Given the description of an element on the screen output the (x, y) to click on. 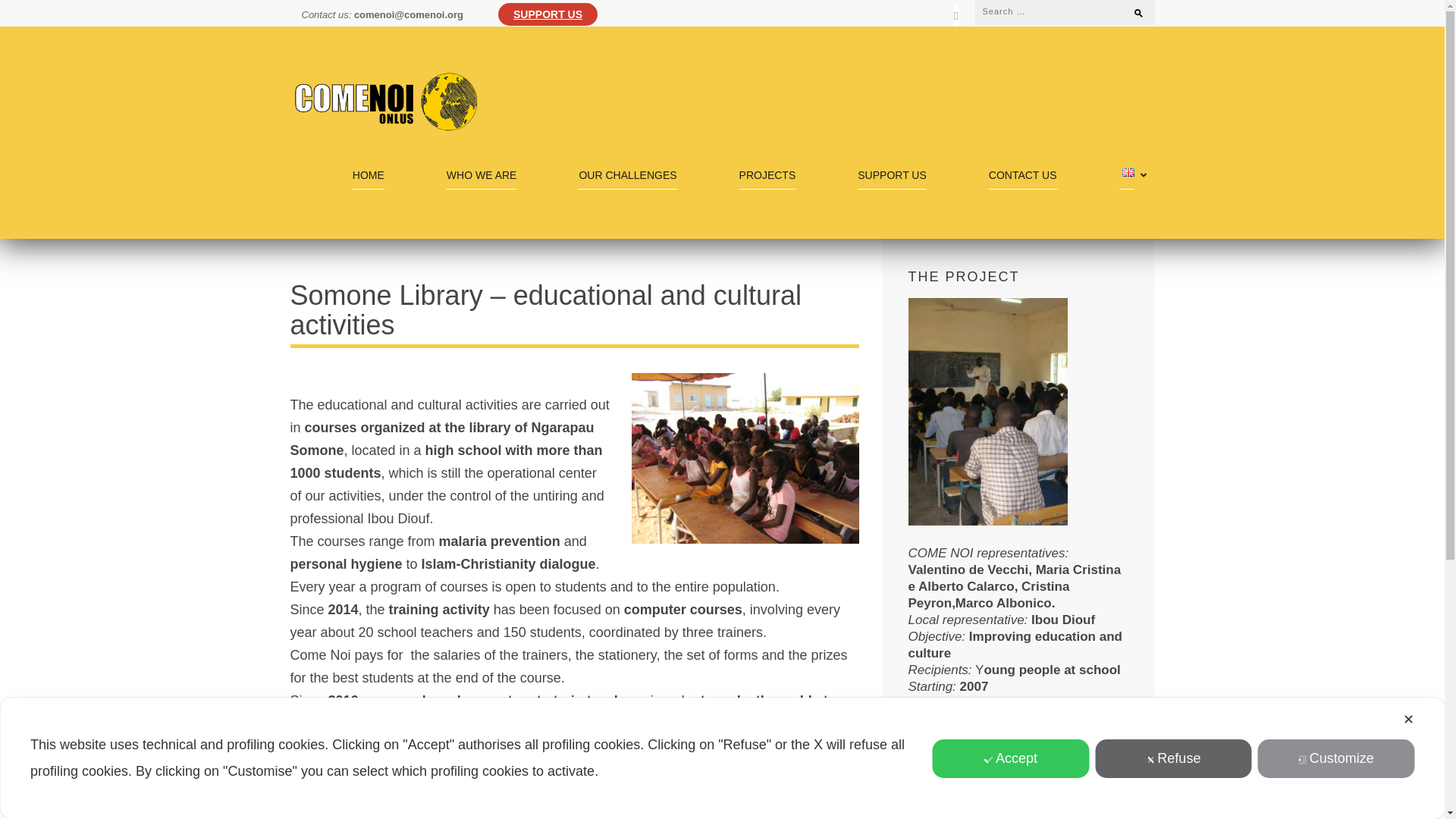
Search (1131, 9)
Search (1131, 9)
OUR CHALLENGES (627, 178)
SUPPORT US (546, 14)
HOME (368, 178)
Search (1131, 9)
WHO WE ARE (481, 178)
PROJECTS (767, 178)
COME NOI ONLUS (396, 141)
SUPPORT US (891, 178)
